Given the description of an element on the screen output the (x, y) to click on. 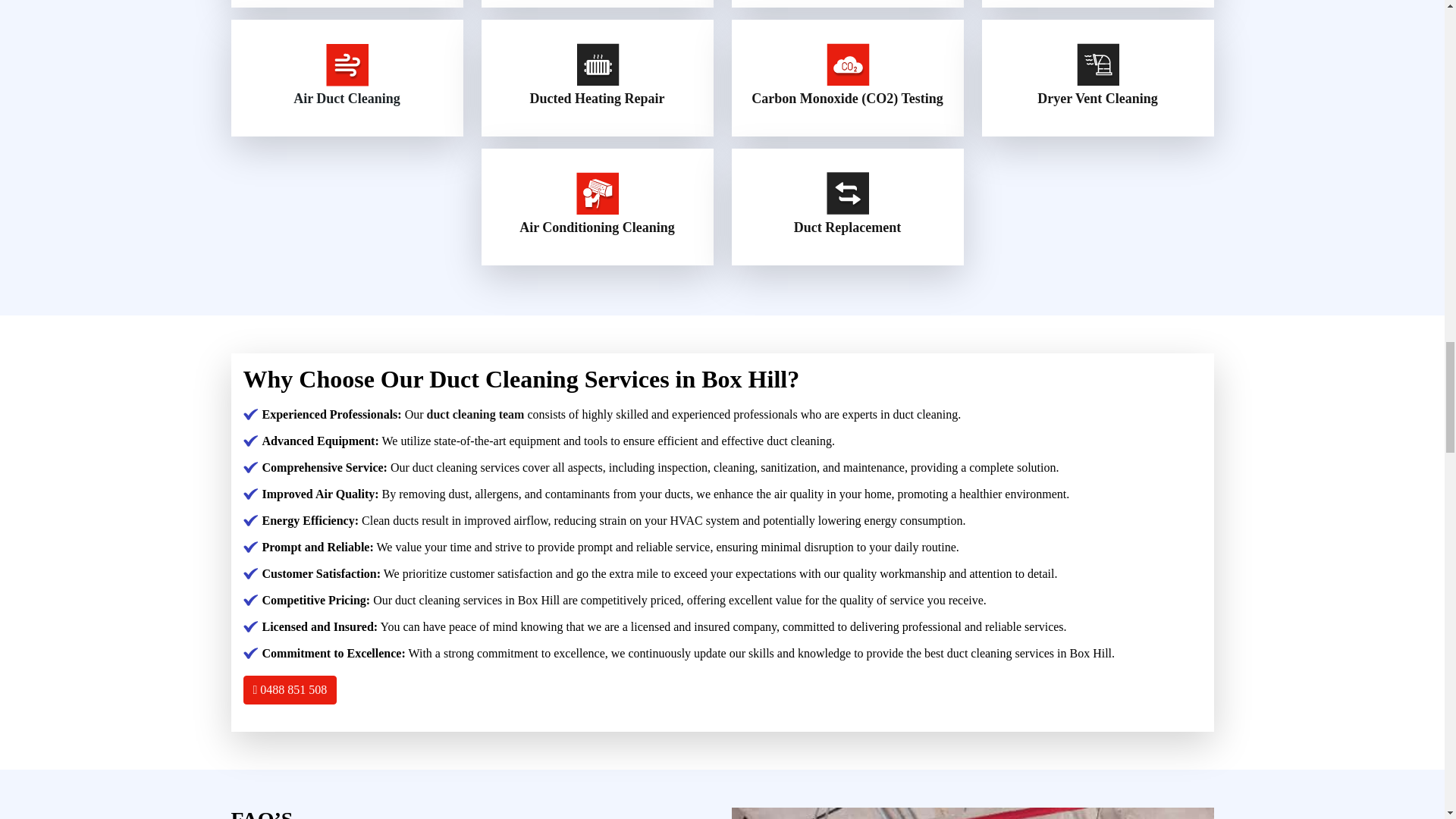
Ducted Heating Repair (596, 98)
Air Conditioning Cleaning (597, 227)
Duct Replacement (847, 227)
Dryer Vent Cleaning (1096, 98)
0488 851 508 (289, 689)
duct cleaning team (475, 413)
